Given the description of an element on the screen output the (x, y) to click on. 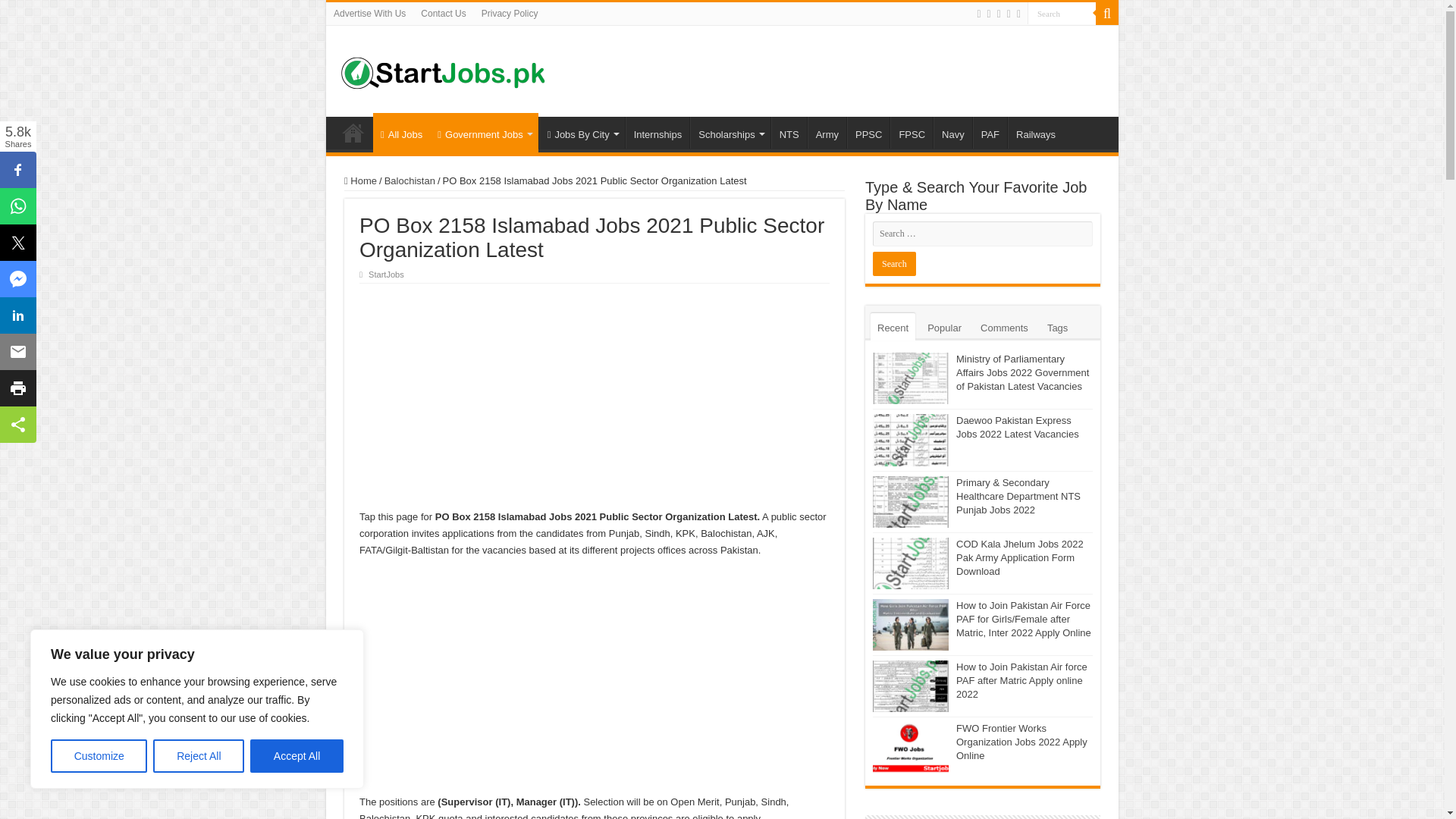
Accept All (296, 756)
Search (1061, 13)
Customize (98, 756)
Search (893, 263)
Advertisement (594, 397)
Search (893, 263)
Reject All (198, 756)
Search (1061, 13)
Search (1061, 13)
